Given the description of an element on the screen output the (x, y) to click on. 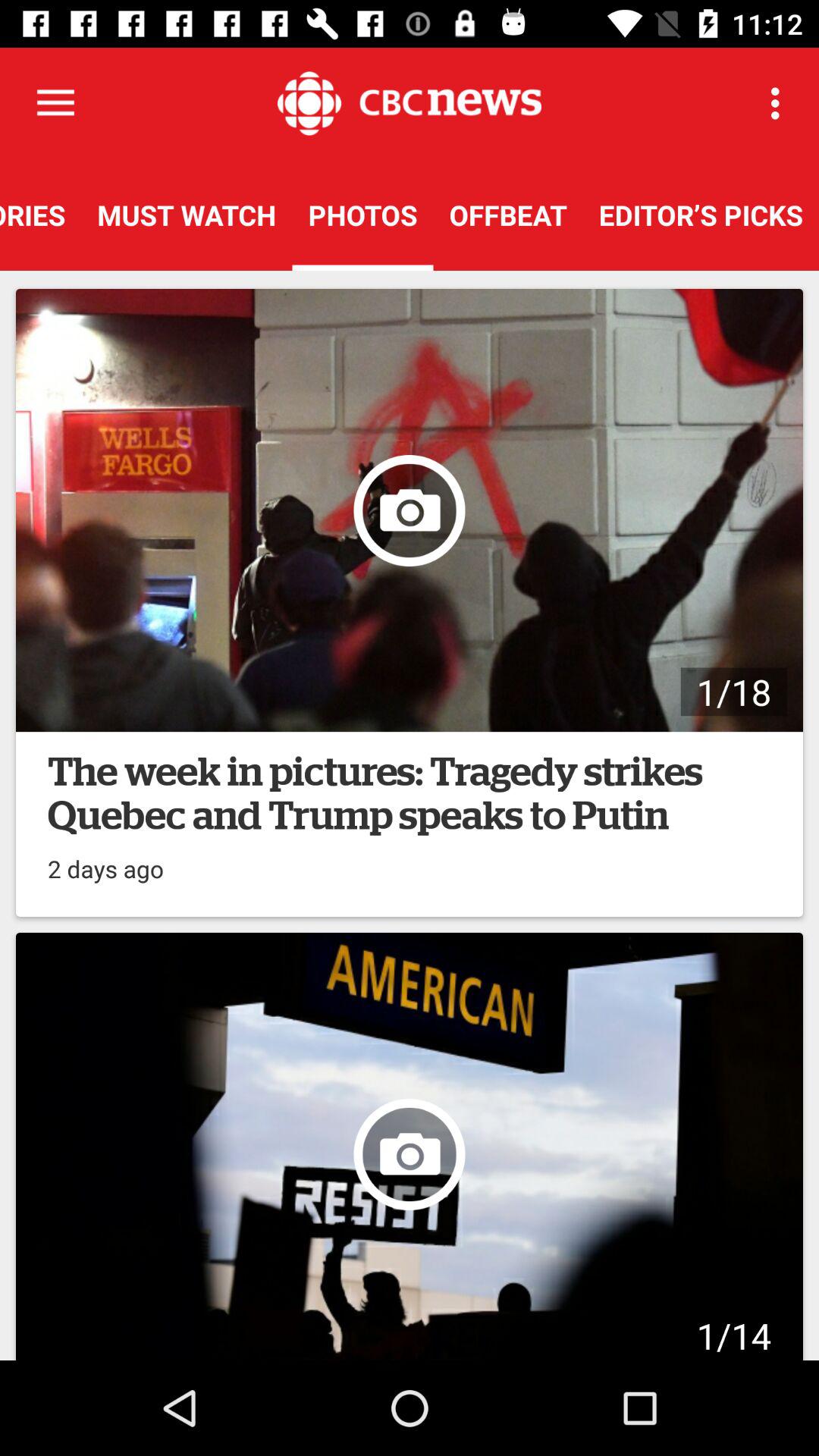
select the item next to the offbeat (700, 214)
